Given the description of an element on the screen output the (x, y) to click on. 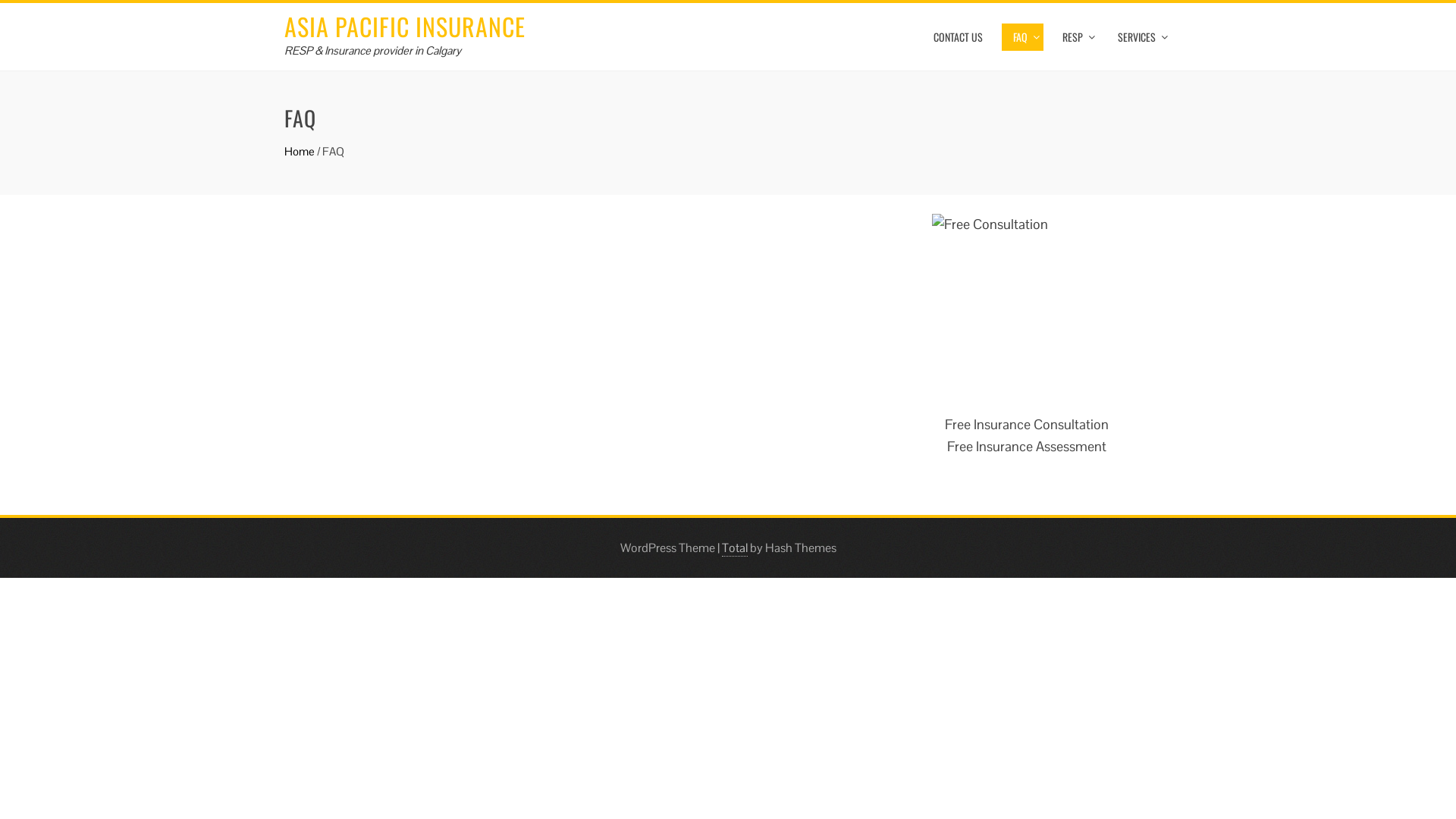
RESP Element type: text (1074, 36)
RESP & Insurance provider in Calgary Element type: text (372, 50)
Total Element type: text (734, 547)
CONTACT US Element type: text (958, 36)
FAQ Element type: text (1022, 36)
SERVICES Element type: text (1138, 36)
Home Element type: text (299, 151)
ASIA PACIFIC INSURANCE Element type: text (404, 25)
